Given the description of an element on the screen output the (x, y) to click on. 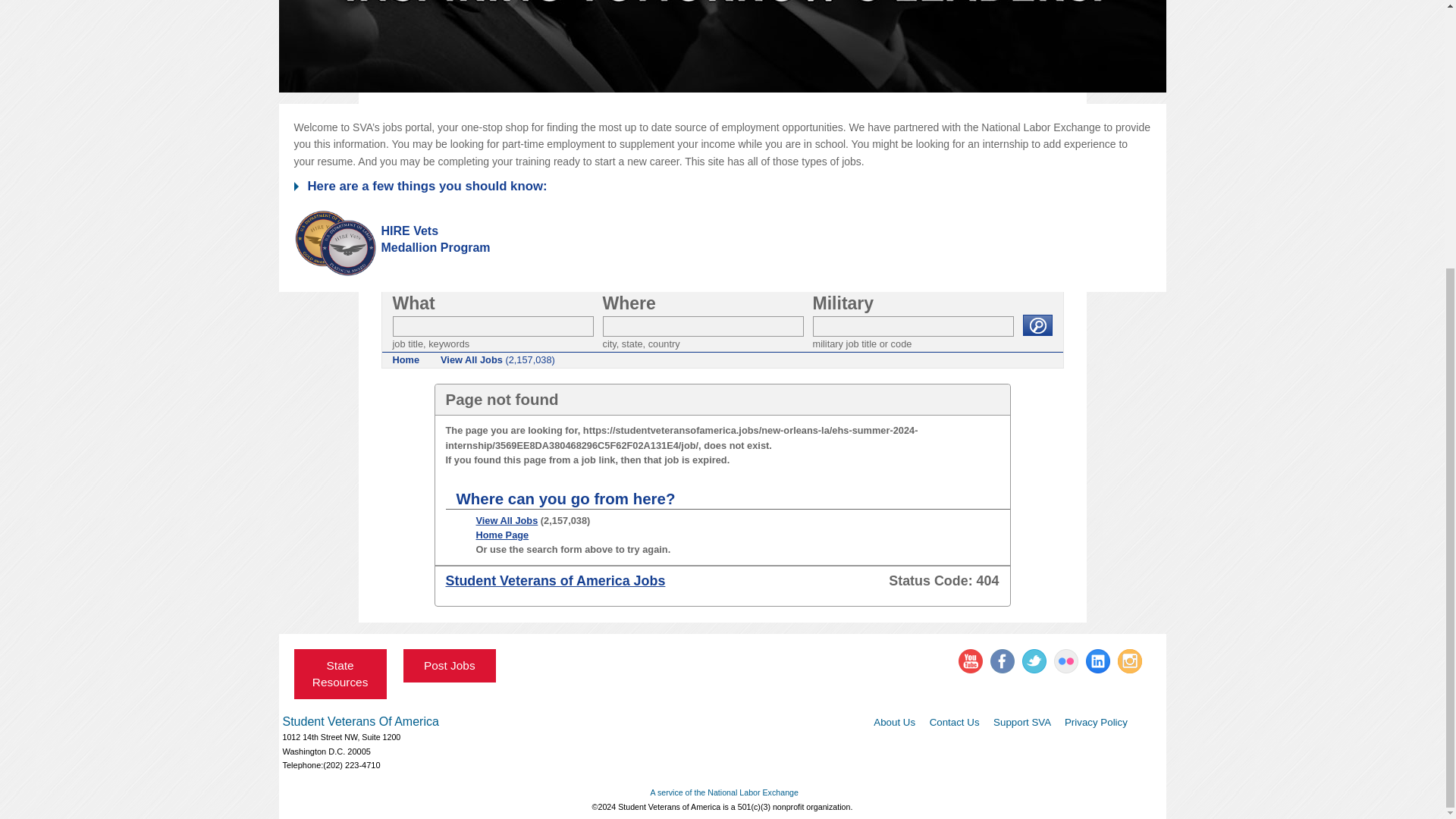
About Us (894, 722)
search (1036, 324)
Instagram (1129, 661)
Search Phrase (493, 326)
Student Veterans Of America (360, 721)
Twitter (1034, 661)
Instagram (1129, 661)
Student Veterans of America Jobs (555, 580)
Search Location (702, 326)
Facebook (1002, 661)
